Given the description of an element on the screen output the (x, y) to click on. 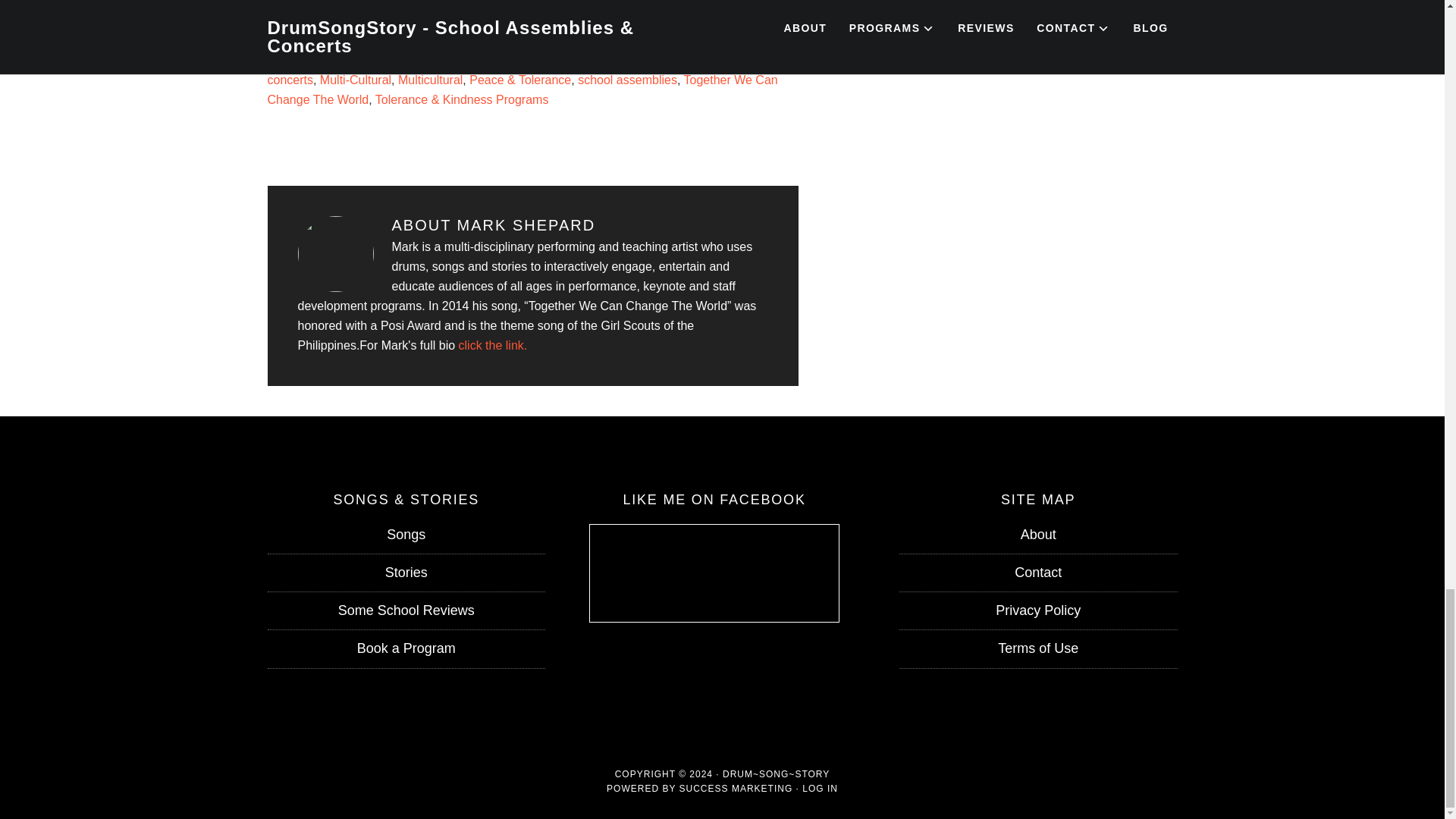
Facebook (281, 16)
Pinterest (371, 16)
DrumSongStory (673, 60)
More (518, 16)
Instagram (311, 16)
Twitter (340, 16)
Anti Bullying Programs (397, 60)
Google Gmail (458, 16)
Linkedin (400, 16)
Youtube (430, 16)
Email (489, 16)
family concerts (510, 70)
Multi-Cultural (355, 79)
Multicultural (430, 79)
